Given the description of an element on the screen output the (x, y) to click on. 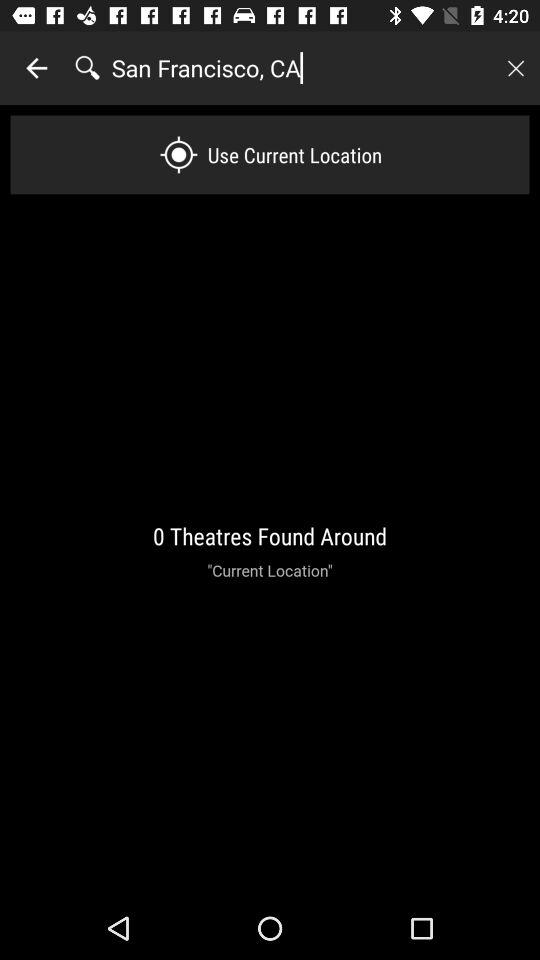
cancel search (515, 68)
